Given the description of an element on the screen output the (x, y) to click on. 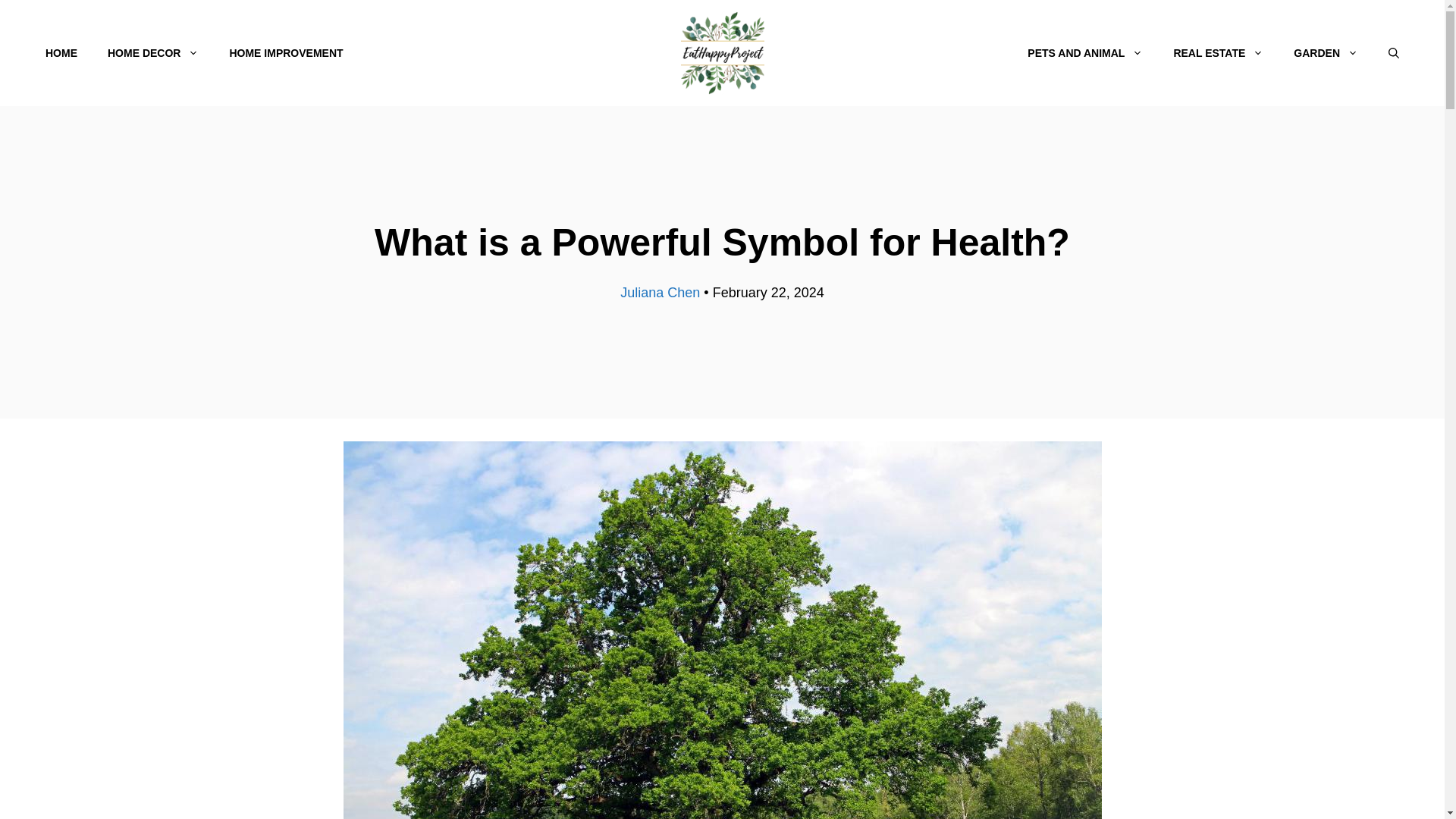
HOME IMPROVEMENT (286, 53)
HOME (61, 53)
MENU ITEM SEPARATOR (685, 53)
HOME DECOR (153, 53)
View all posts by Juliana Chen (660, 292)
GARDEN (1325, 53)
PETS AND ANIMAL (1084, 53)
REAL ESTATE (1217, 53)
